Given the description of an element on the screen output the (x, y) to click on. 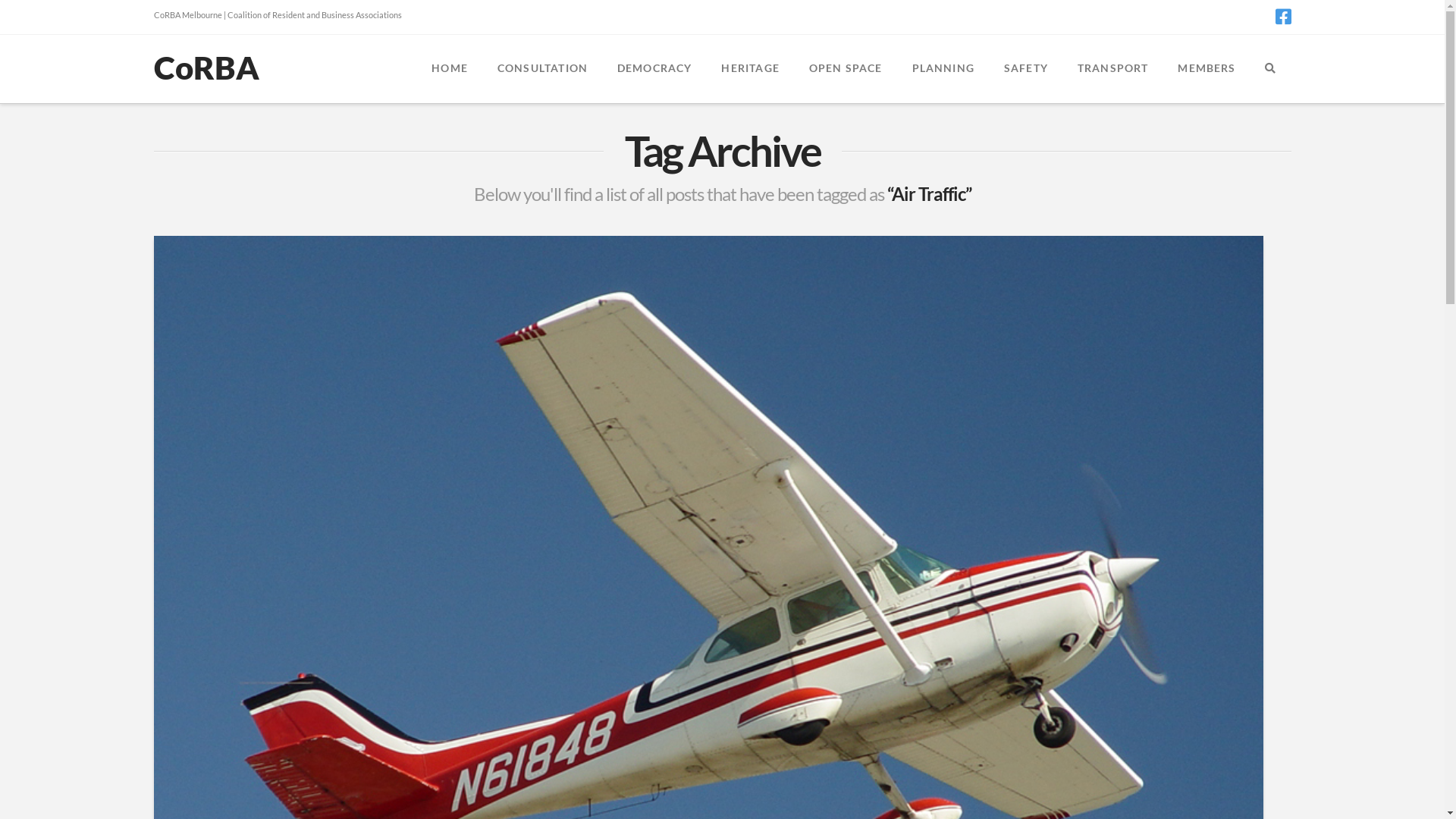
OPEN SPACE Element type: text (845, 68)
TRANSPORT Element type: text (1112, 68)
CONSULTATION Element type: text (542, 68)
DEMOCRACY Element type: text (654, 68)
CoRBA Element type: text (205, 67)
PLANNING Element type: text (942, 68)
HOME Element type: text (449, 68)
SAFETY Element type: text (1025, 68)
HERITAGE Element type: text (749, 68)
MEMBERS Element type: text (1205, 68)
Facebook Element type: hover (1283, 16)
